Given the description of an element on the screen output the (x, y) to click on. 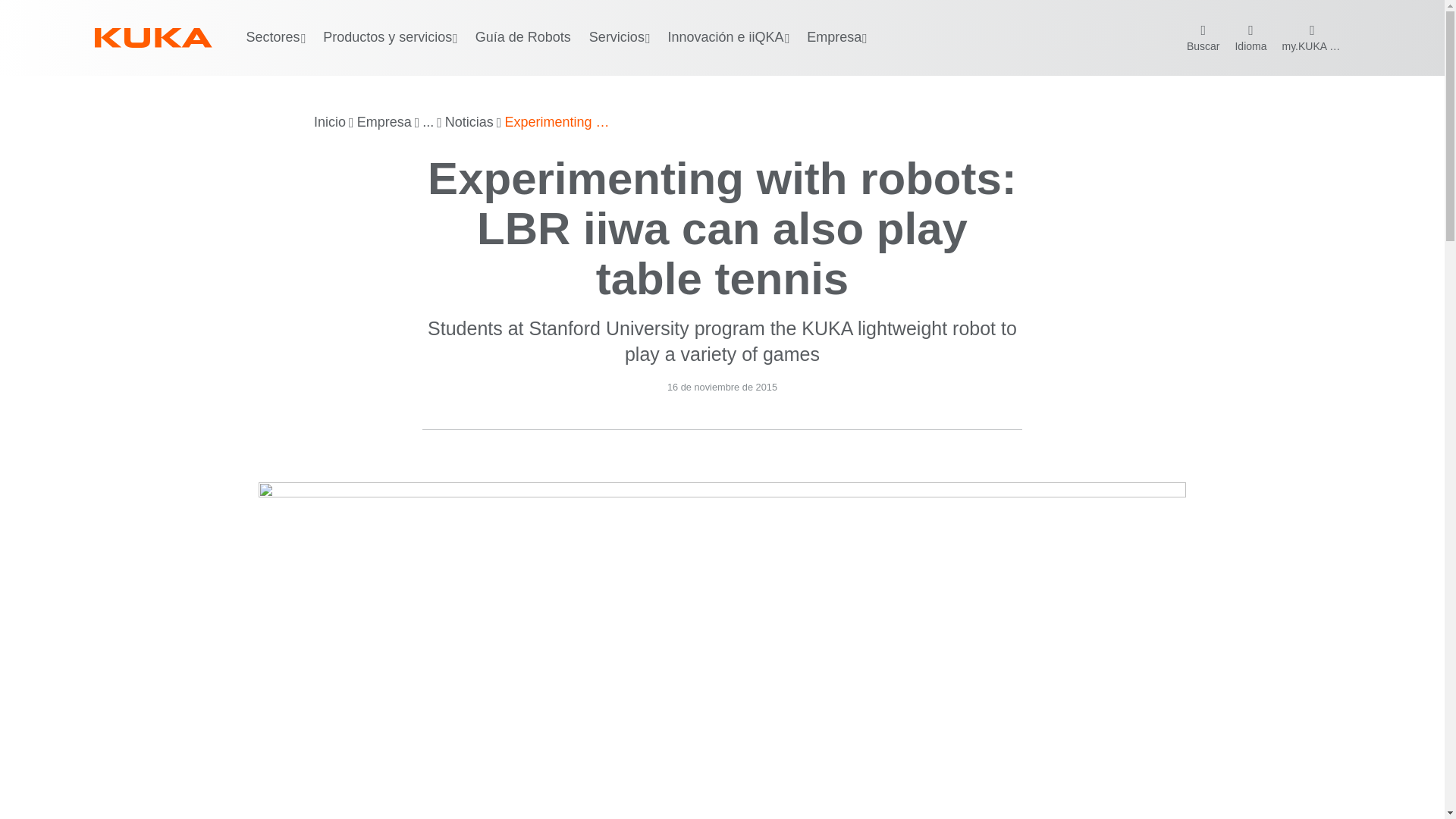
Inicio (330, 122)
Noticias (469, 122)
Empresa (384, 122)
